Given the description of an element on the screen output the (x, y) to click on. 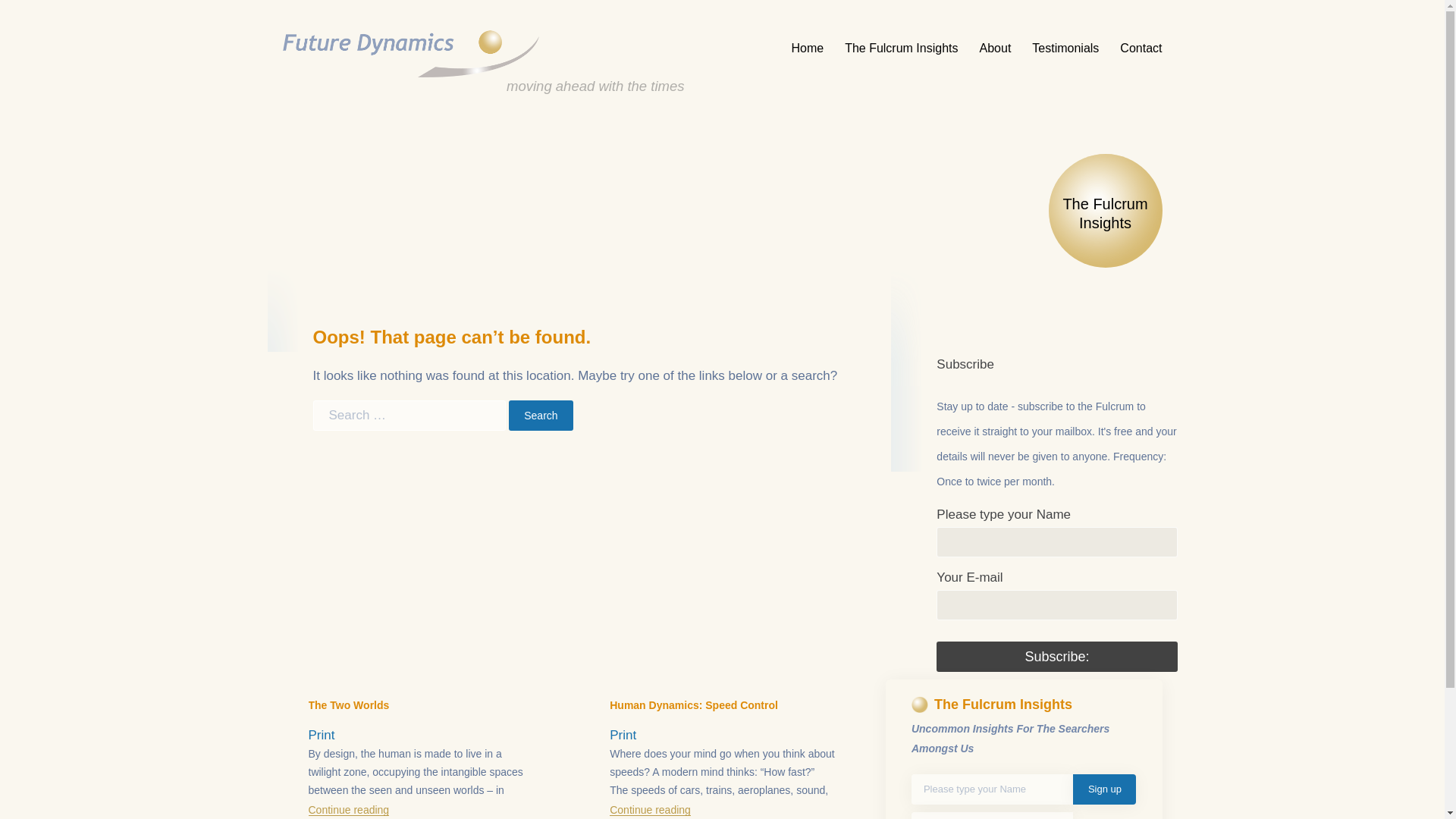
Continue reading (650, 809)
Search (540, 415)
moving ahead with the times (483, 53)
The fulcrum (901, 47)
Sign up (1104, 788)
About (995, 47)
Continue reading (347, 809)
Subscribe: (1056, 656)
Subscribe: (1056, 656)
Search (540, 415)
Sign up (1104, 788)
About (995, 47)
Future Dynamics (483, 53)
Contact (1135, 47)
Print (623, 735)
